Given the description of an element on the screen output the (x, y) to click on. 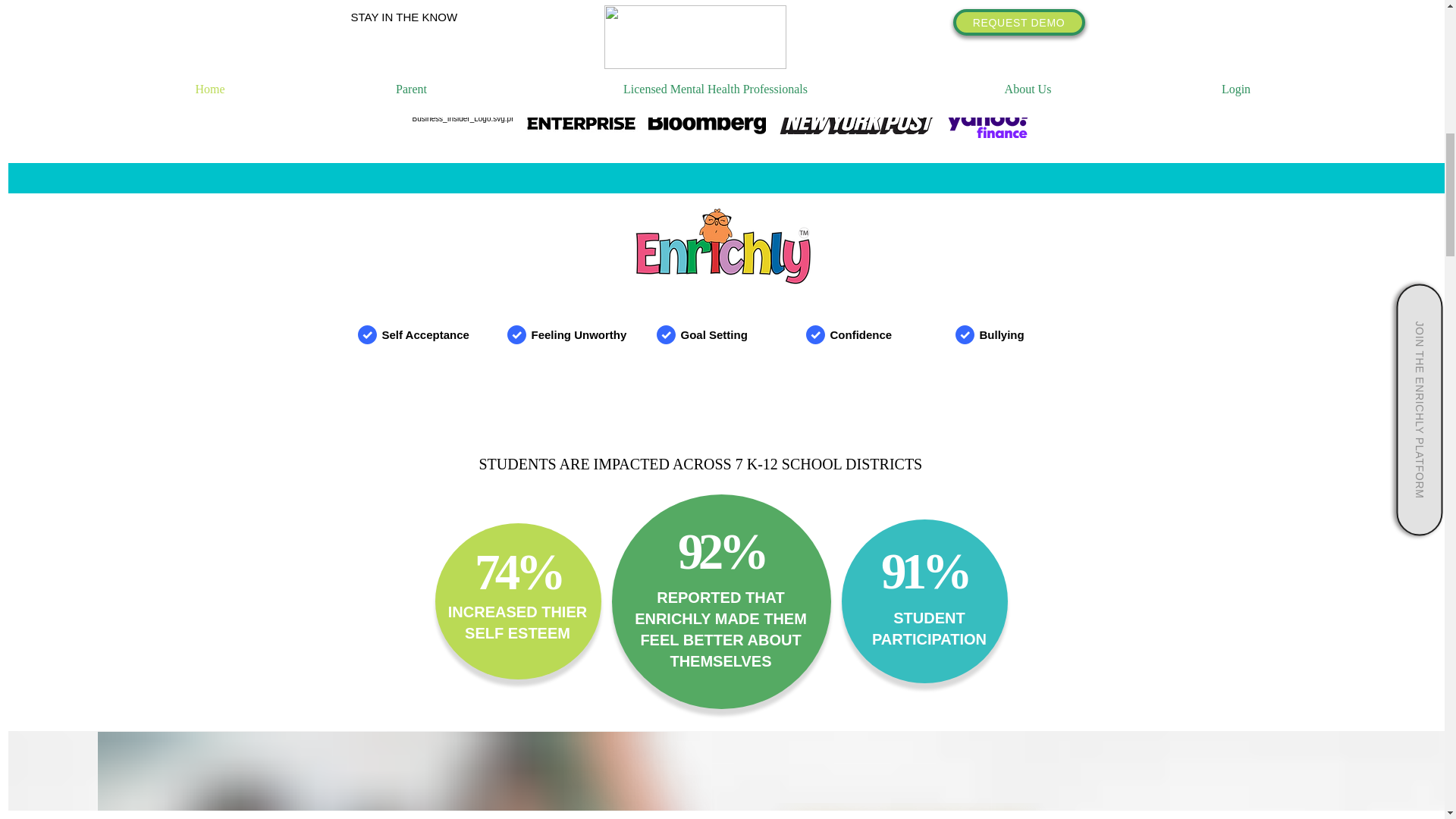
1.jpeg (580, 115)
